Given the description of an element on the screen output the (x, y) to click on. 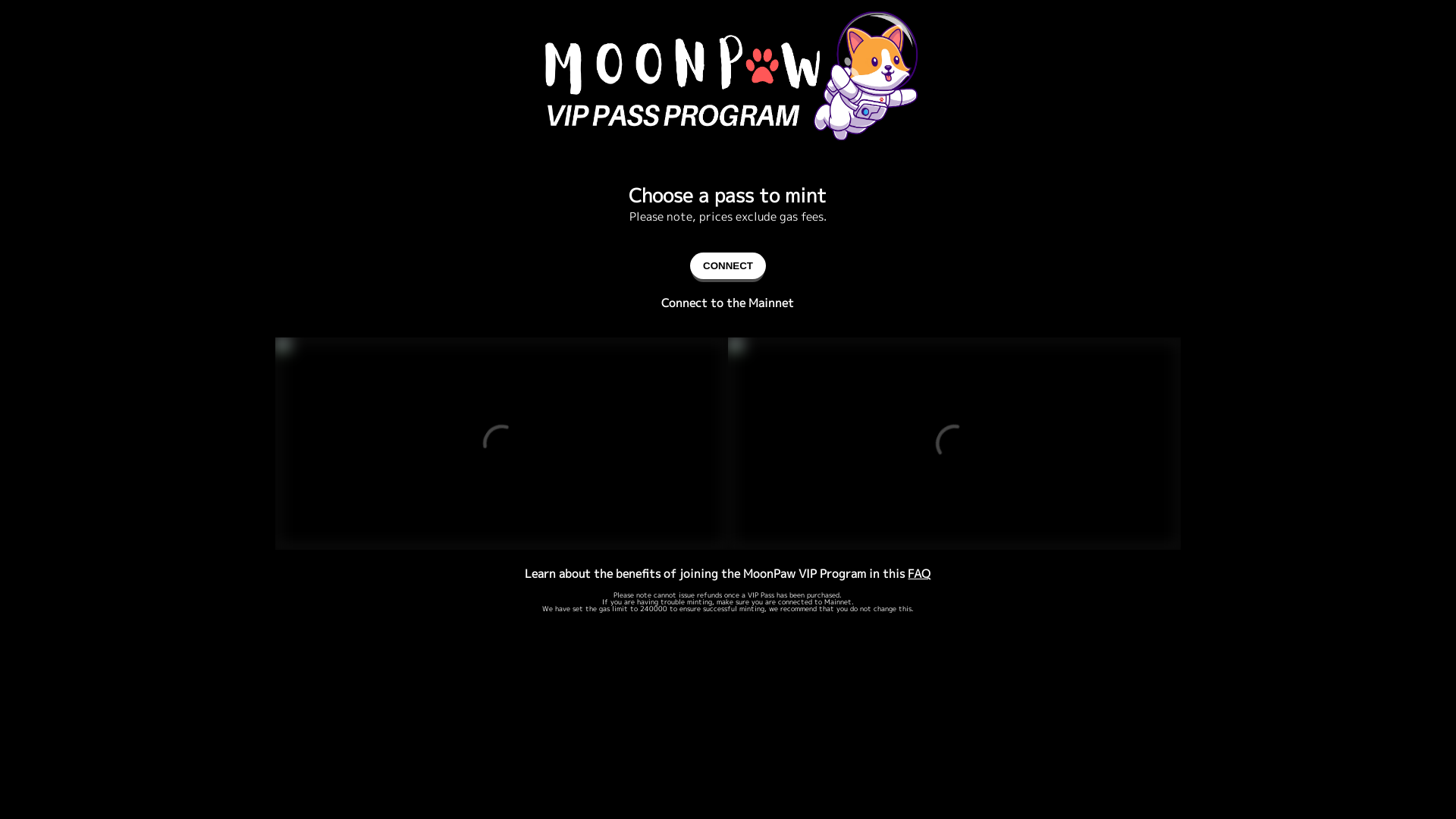
CONNECT Element type: text (727, 265)
FAQ Element type: text (918, 573)
